Given the description of an element on the screen output the (x, y) to click on. 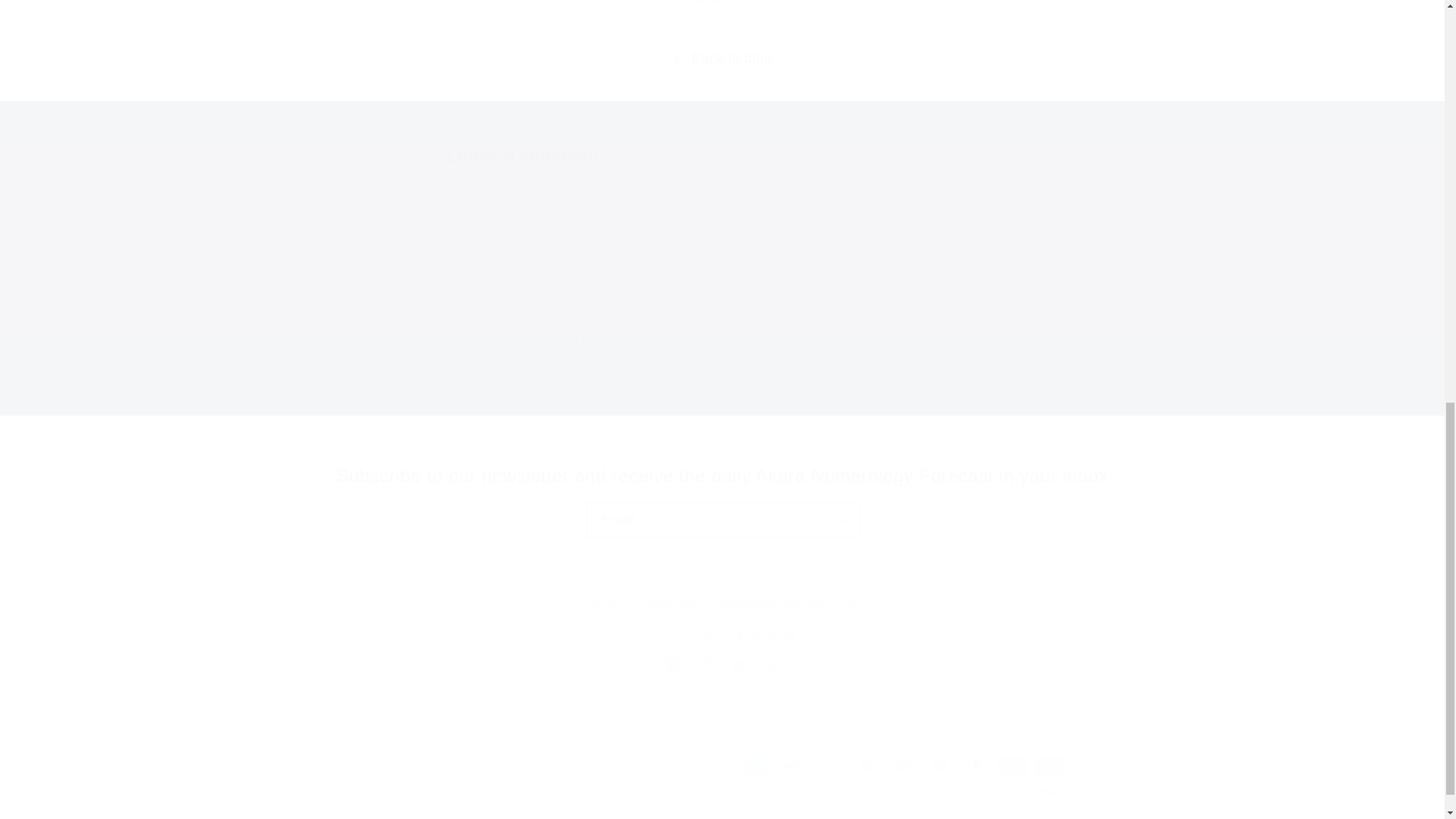
Email (722, 520)
Post comment (510, 385)
